Given the description of an element on the screen output the (x, y) to click on. 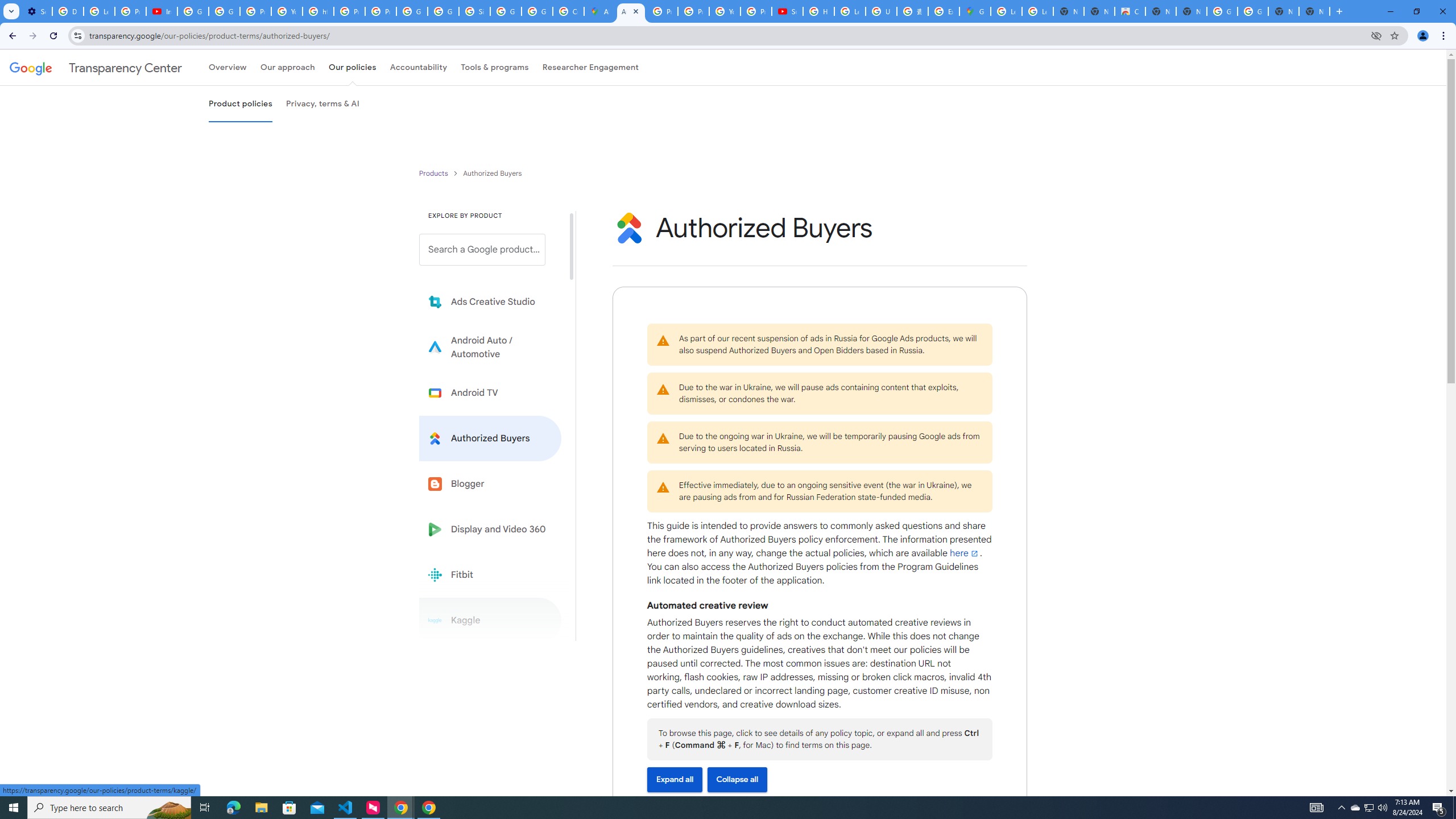
Privacy Help Center - Policies Help (693, 11)
Learn more about Android TV (490, 393)
Introduction | Google Privacy Policy - YouTube (161, 11)
New Tab (1314, 11)
here (964, 553)
Explore new street-level details - Google Maps Help (943, 11)
Subscriptions - YouTube (787, 11)
